Given the description of an element on the screen output the (x, y) to click on. 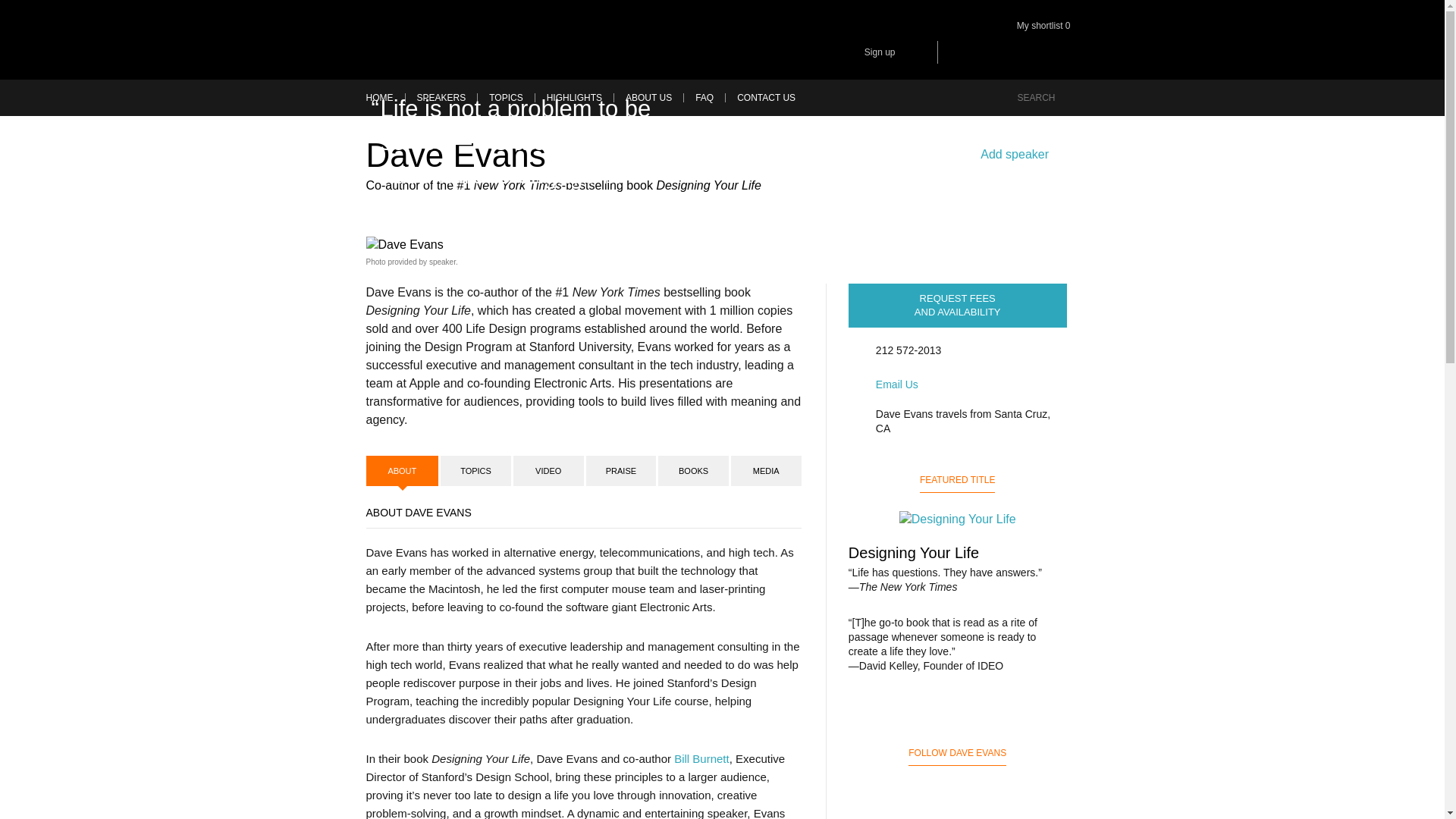
Facebook (960, 51)
Twitter (1031, 51)
My shortlist (1047, 29)
Youtube (1066, 51)
Penguin Random House Speakers Bureau (454, 39)
ABOUT US (647, 97)
Newsletter (913, 51)
TOPICS (505, 97)
Play Video (393, 223)
Newsletter (913, 51)
Facebook (960, 51)
FAQ (703, 97)
My shortlist 0 (1047, 29)
Home (384, 97)
HOME (384, 97)
